Given the description of an element on the screen output the (x, y) to click on. 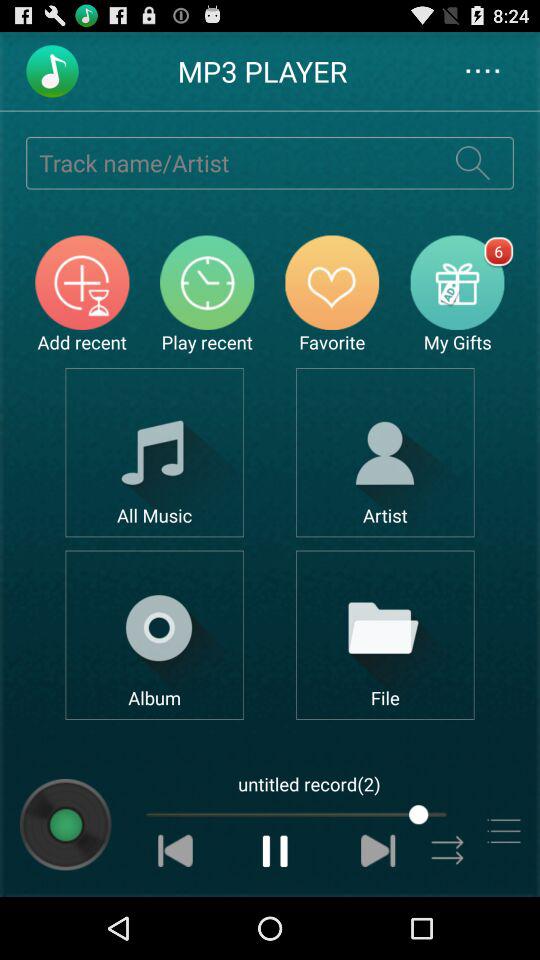
enter track name/artist (229, 162)
